Given the description of an element on the screen output the (x, y) to click on. 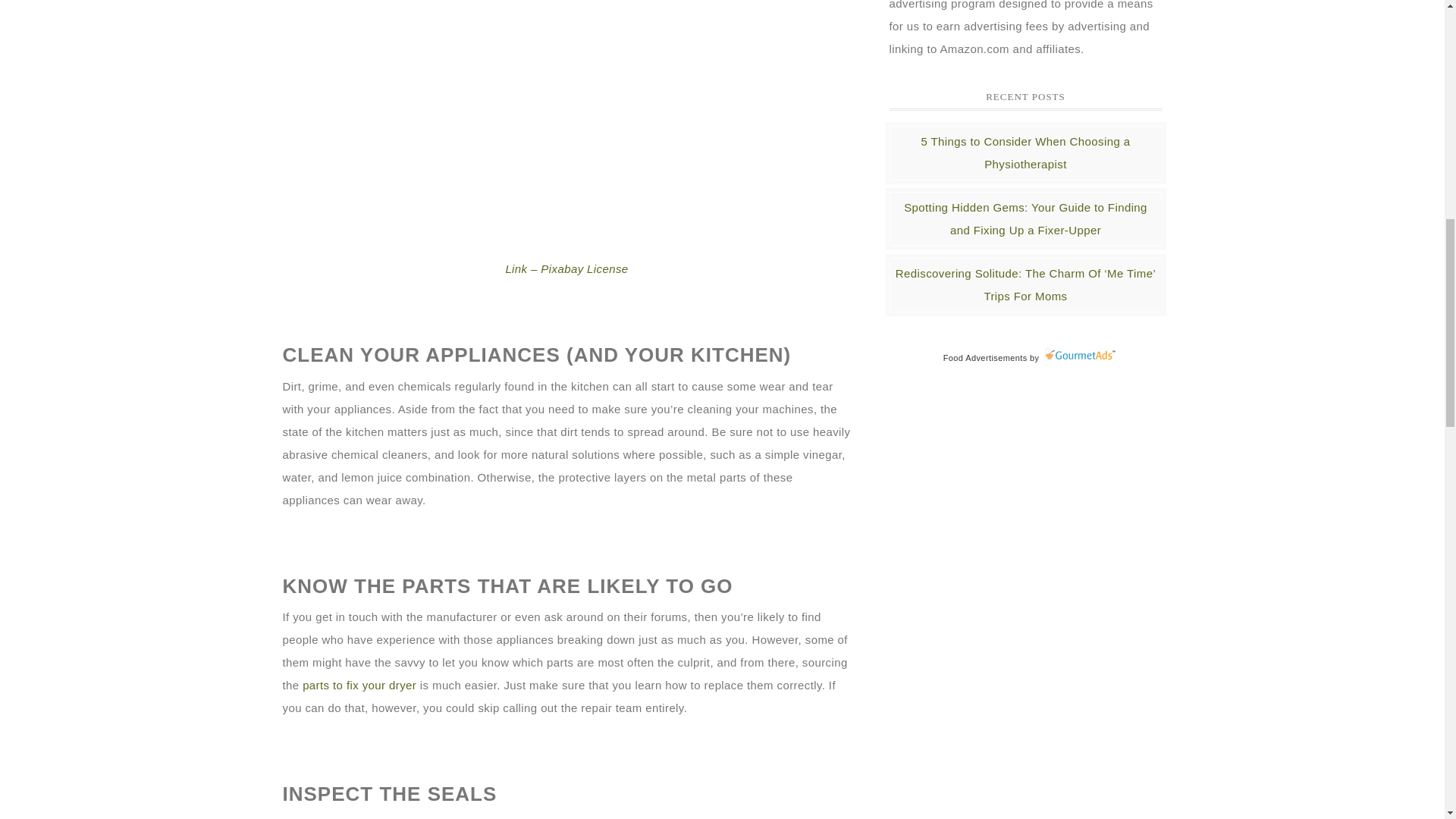
Food Advertisements (985, 357)
parts to fix your dryer (359, 684)
